Given the description of an element on the screen output the (x, y) to click on. 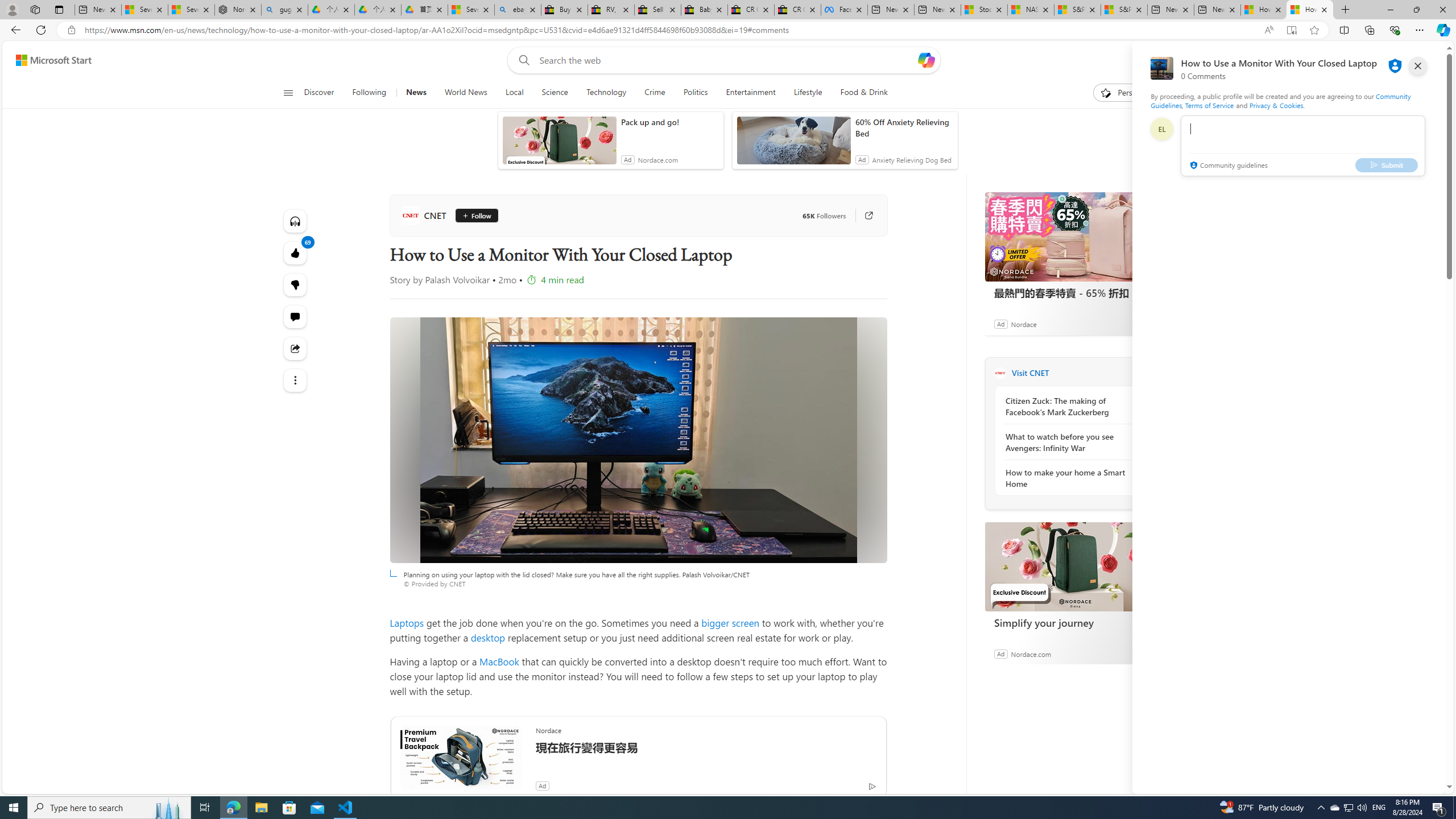
Local (514, 92)
Pack up and go! (669, 121)
World News (465, 92)
Enter your search term (726, 59)
comment-box (1302, 145)
Privacy & Cookies (1276, 104)
Profile Picture (1161, 128)
Listen to this article (295, 221)
69 Like (295, 252)
Community Guidelines (1280, 100)
